Given the description of an element on the screen output the (x, y) to click on. 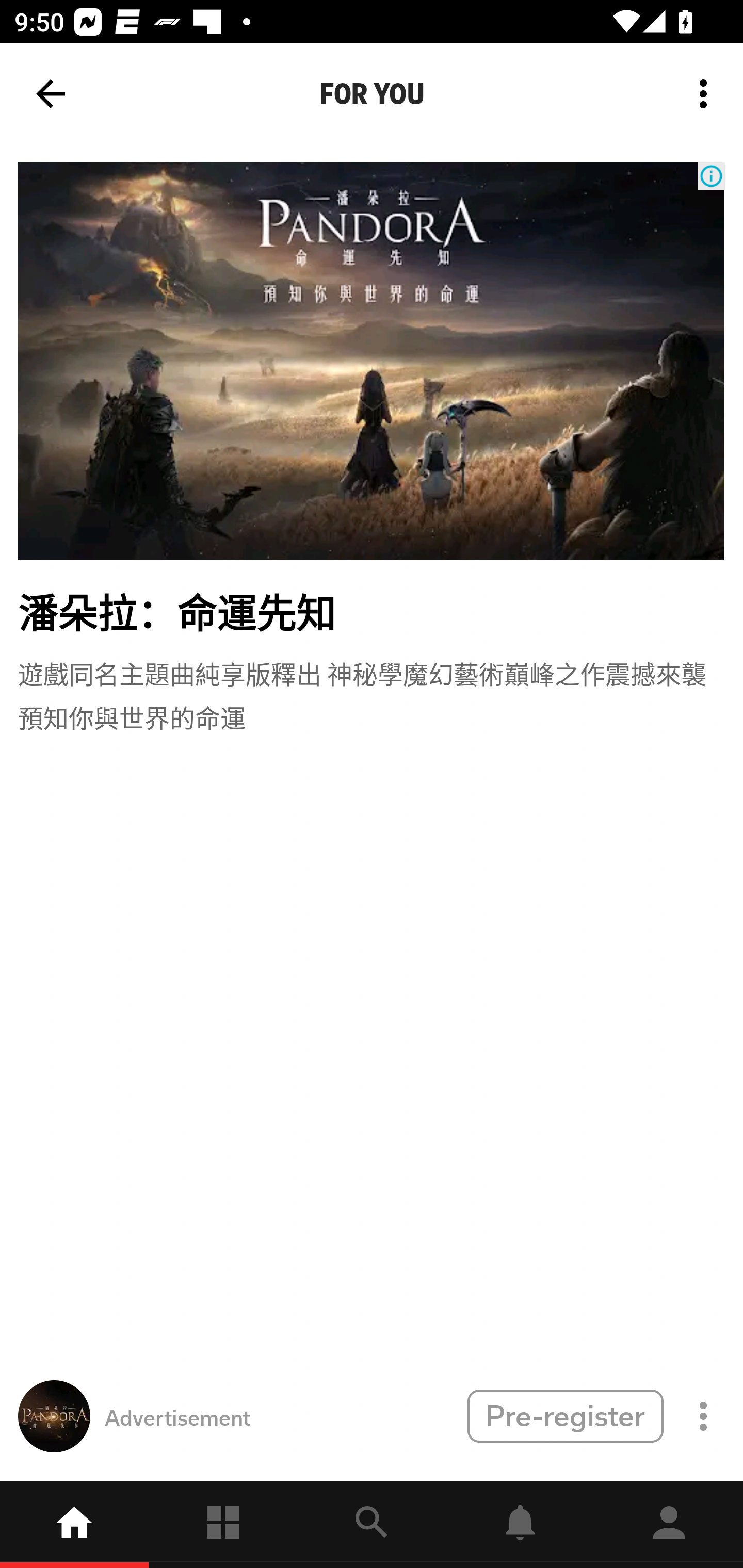
Back (50, 93)
FOR YOU (371, 93)
More options (706, 93)
Ad Choices Icon (711, 176)
遊戲同名主題曲純享版釋出 神秘學魔幻藝術巔峰之作震撼來襲 預知你與世界的命運 (371, 694)
Pre-register (565, 1415)
home (74, 1524)
Following (222, 1524)
explore (371, 1524)
Notifications (519, 1524)
Profile (668, 1524)
